Given the description of an element on the screen output the (x, y) to click on. 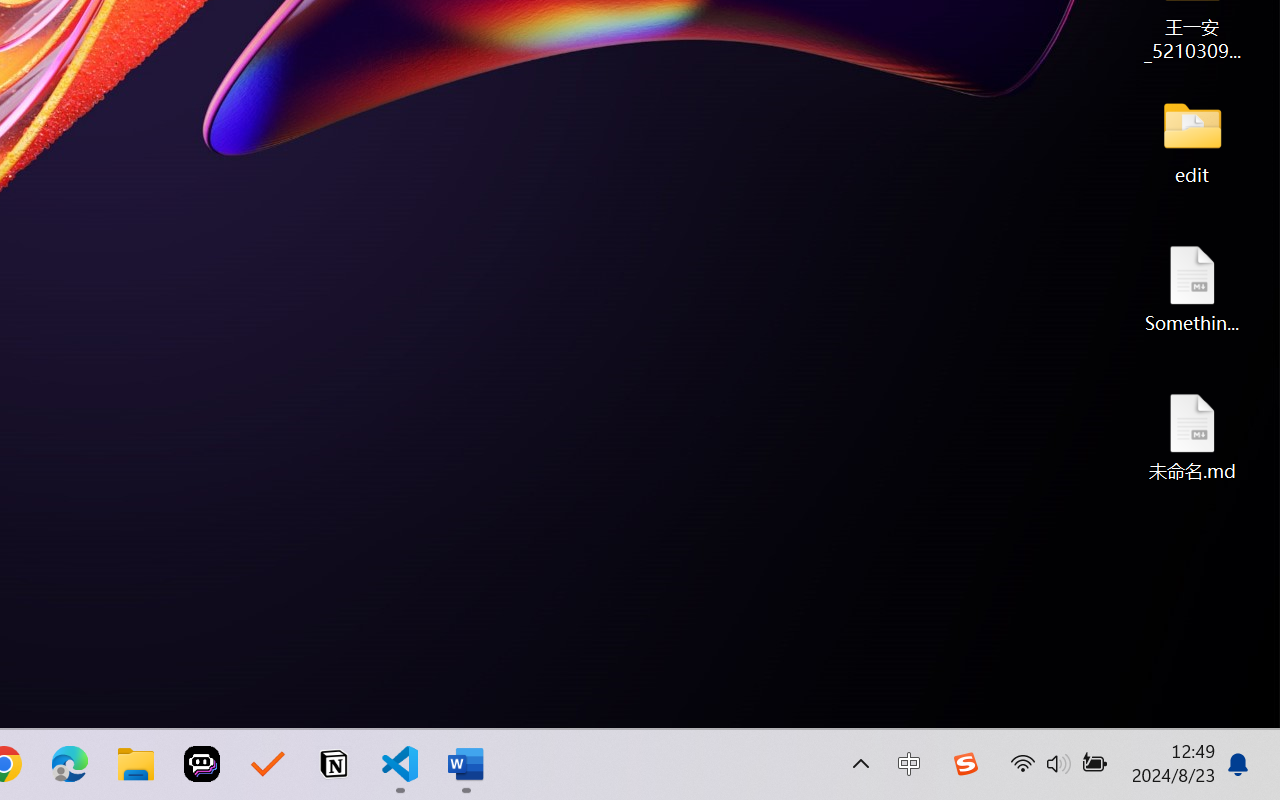
edit (1192, 140)
Something.md (1192, 288)
Microsoft Edge (69, 764)
